Given the description of an element on the screen output the (x, y) to click on. 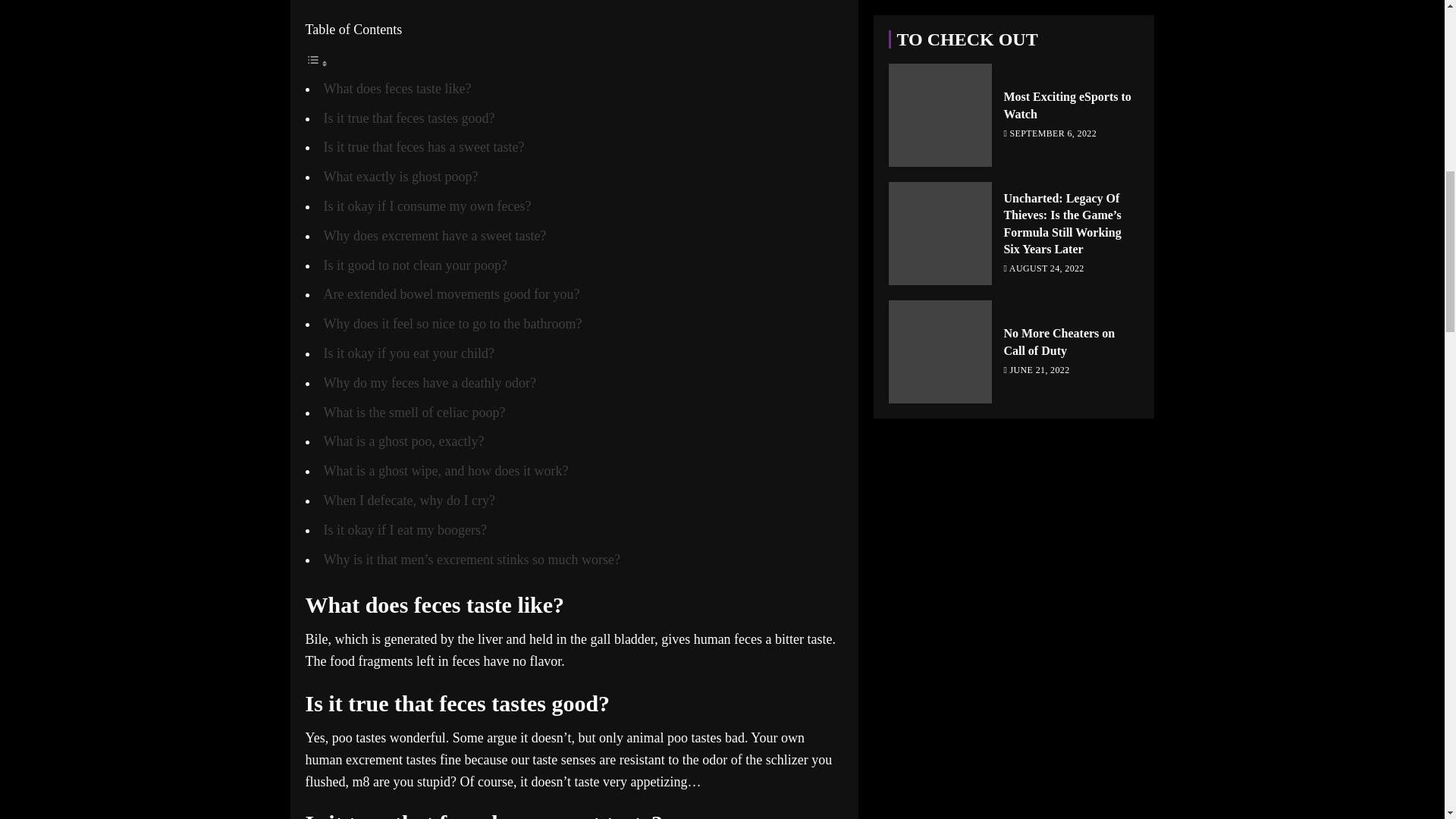
What is the smell of celiac poop? (414, 412)
Is it good to not clean your poop? (414, 264)
Why does excrement have a sweet taste? (434, 235)
What exactly is ghost poop? (400, 176)
Is it true that feces has a sweet taste? (423, 146)
Is it true that feces tastes good? (409, 118)
Why does excrement have a sweet taste? (434, 235)
Are extended bowel movements good for you? (451, 294)
Why do my feces have a deathly odor? (429, 382)
Is it true that feces has a sweet taste? (423, 146)
